Given the description of an element on the screen output the (x, y) to click on. 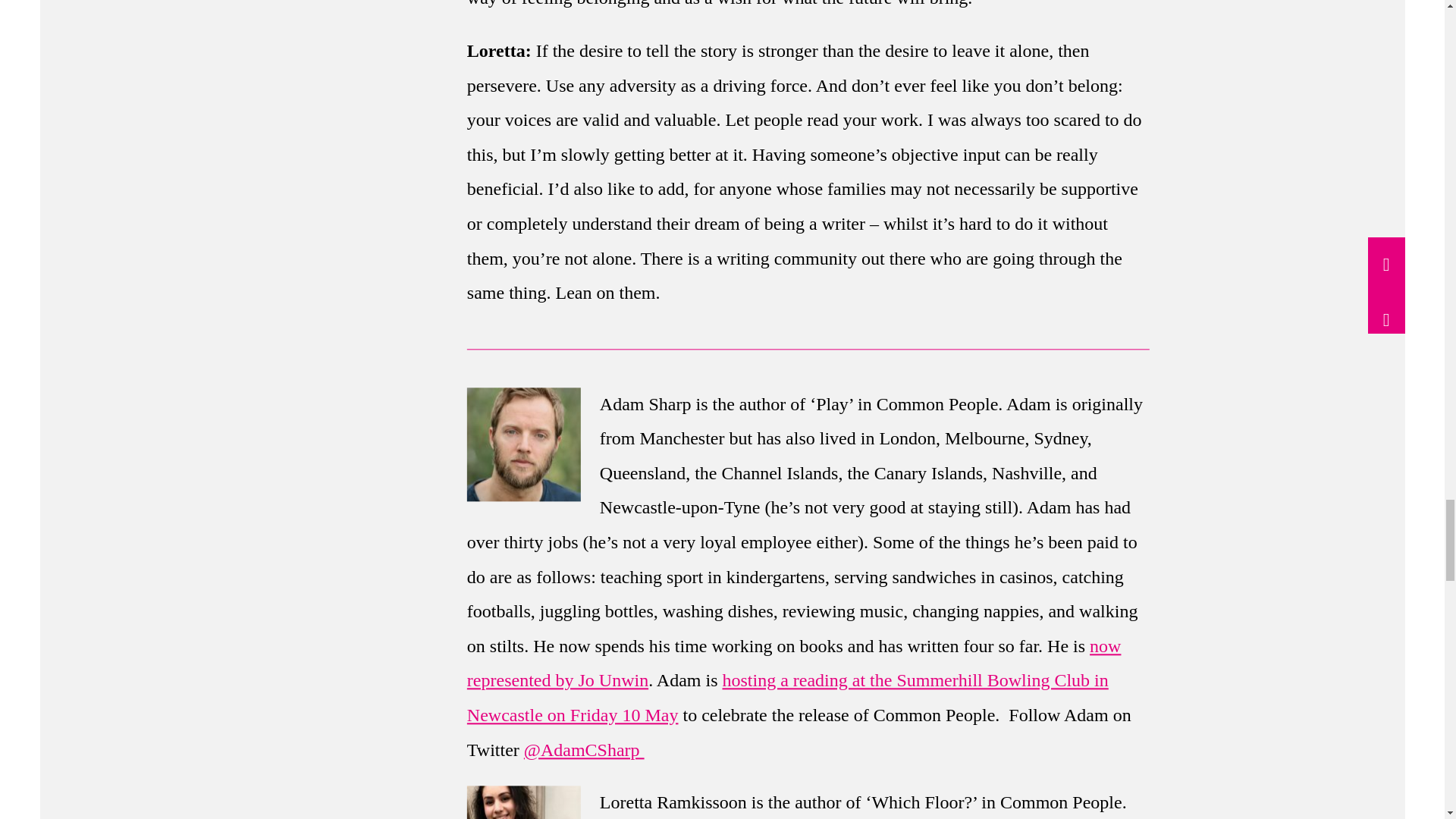
Adam Sharp (522, 444)
Loretta Ramkissoon (522, 802)
now represented by Jo Unwin (793, 664)
